Given the description of an element on the screen output the (x, y) to click on. 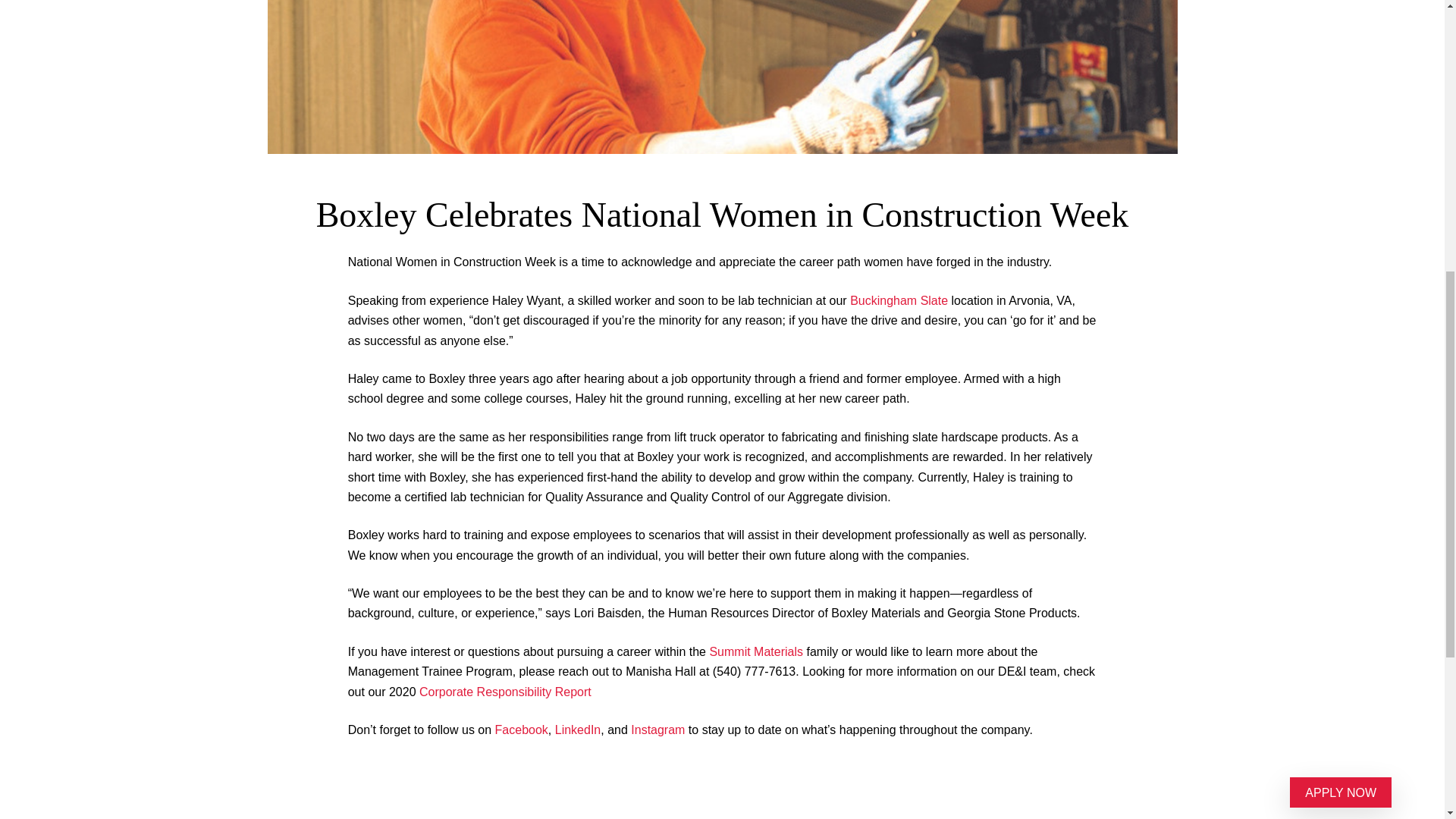
APPLY NOW (1340, 238)
